Given the description of an element on the screen output the (x, y) to click on. 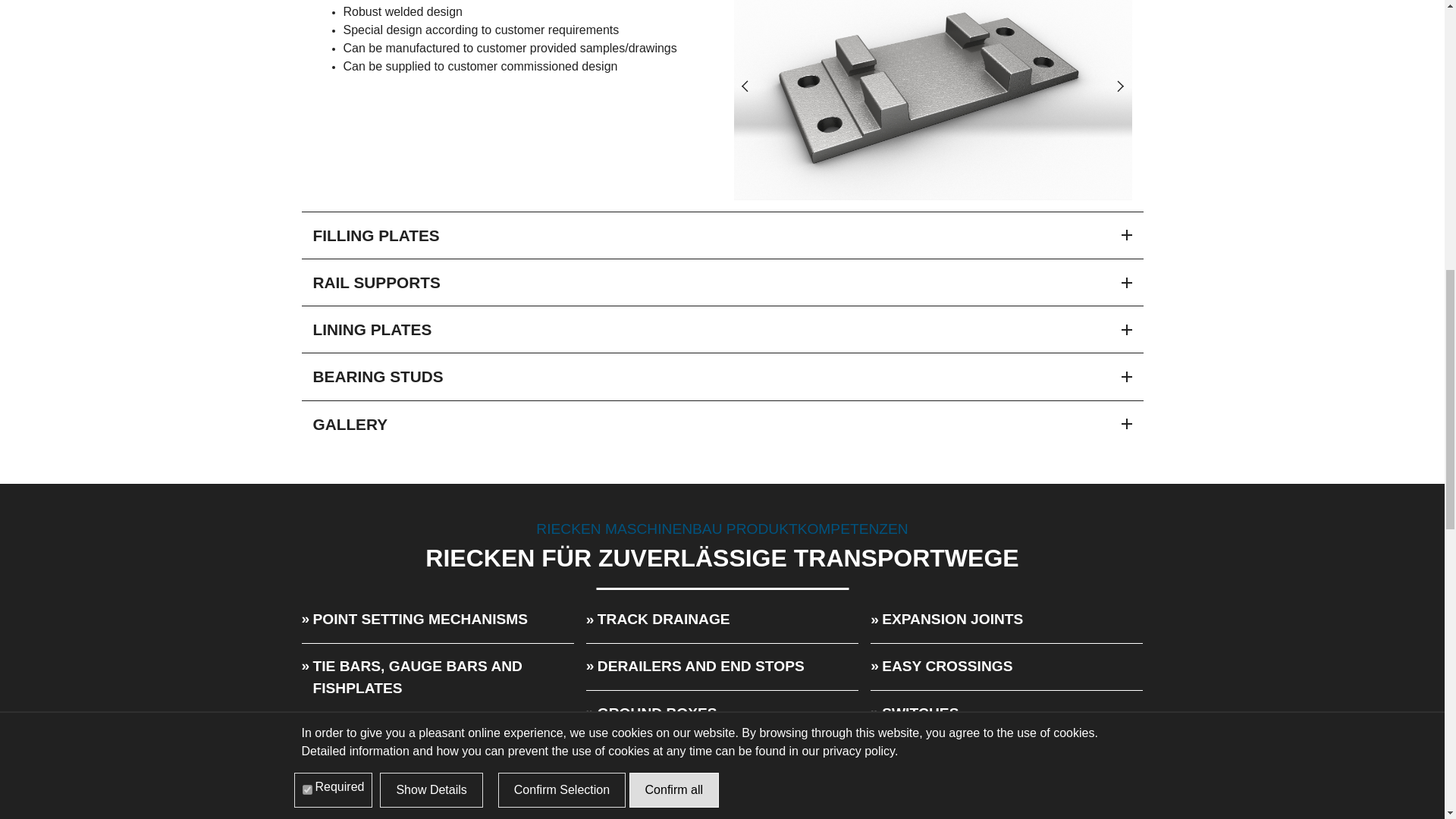
Tie bars, gauge bars and fishplates (417, 677)
Point setting mechanisms (420, 618)
